Given the description of an element on the screen output the (x, y) to click on. 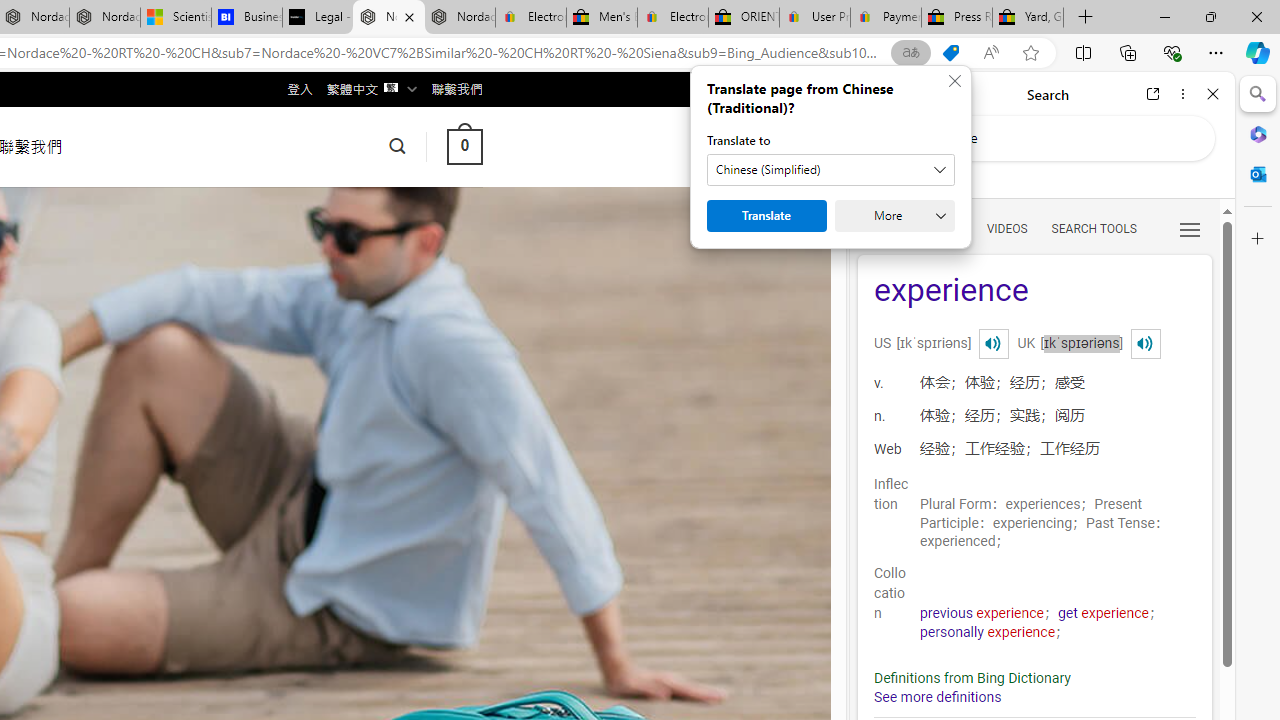
  0   (464, 146)
Web scope (882, 180)
Preferences (1189, 228)
personally experience (988, 632)
This site scope (936, 180)
Home (938, 93)
